Given the description of an element on the screen output the (x, y) to click on. 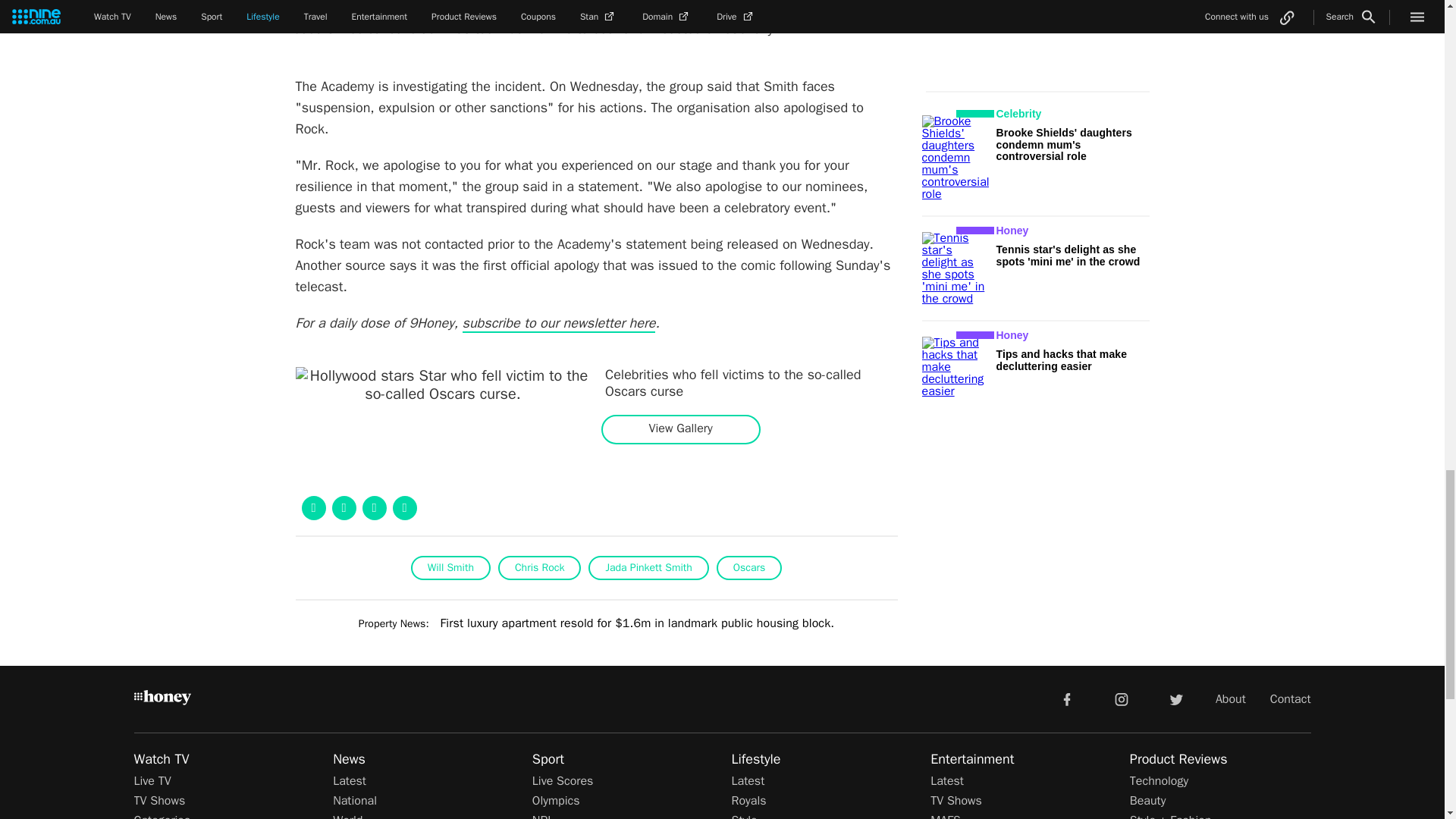
facebook (1066, 698)
instagram (1121, 698)
subscribe to our newsletter here (559, 323)
twitter (1175, 698)
View Gallery (680, 428)
subscribe to our newsletter here (559, 323)
